Given the description of an element on the screen output the (x, y) to click on. 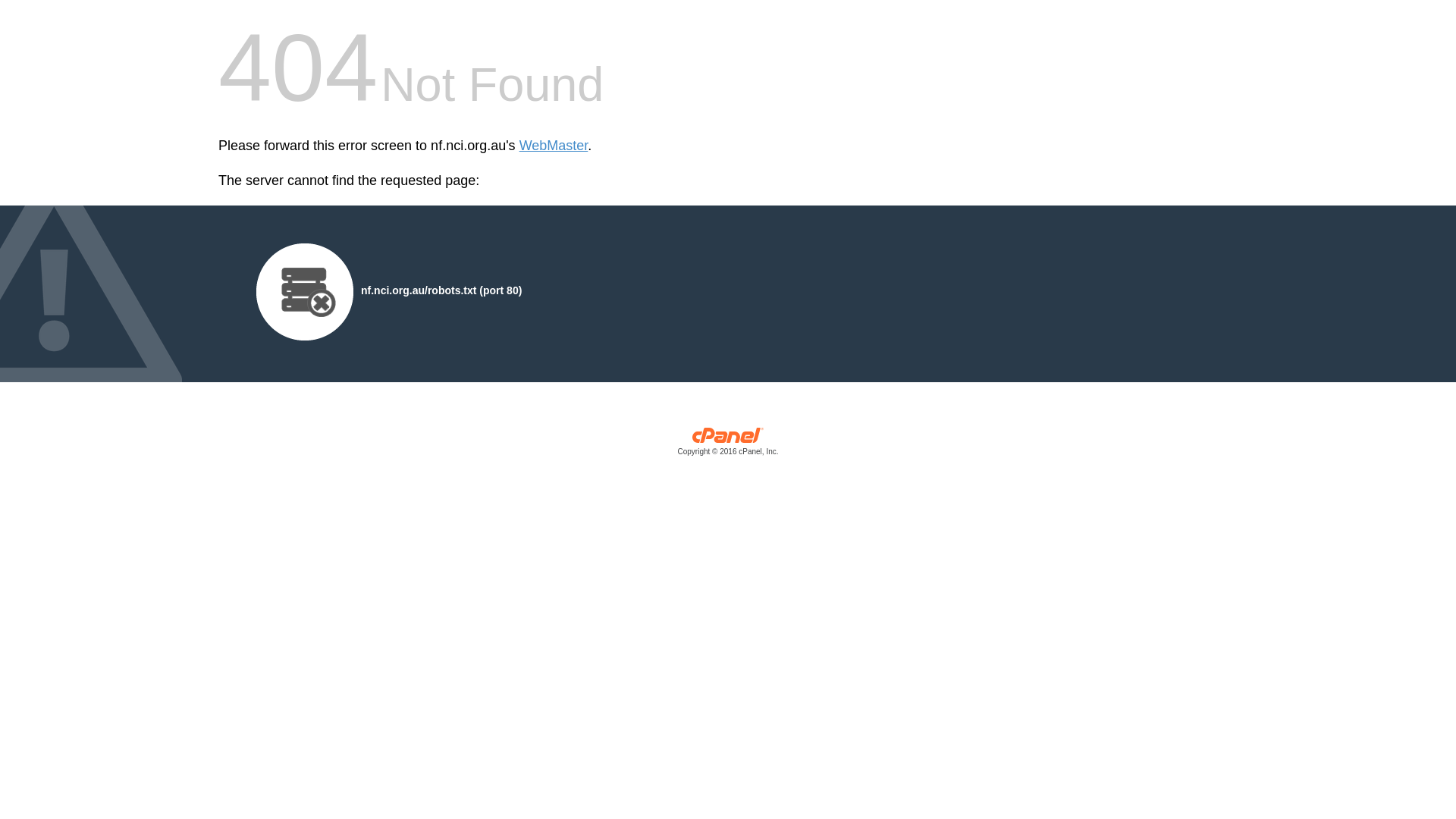
WebMaster Element type: text (553, 145)
